Given the description of an element on the screen output the (x, y) to click on. 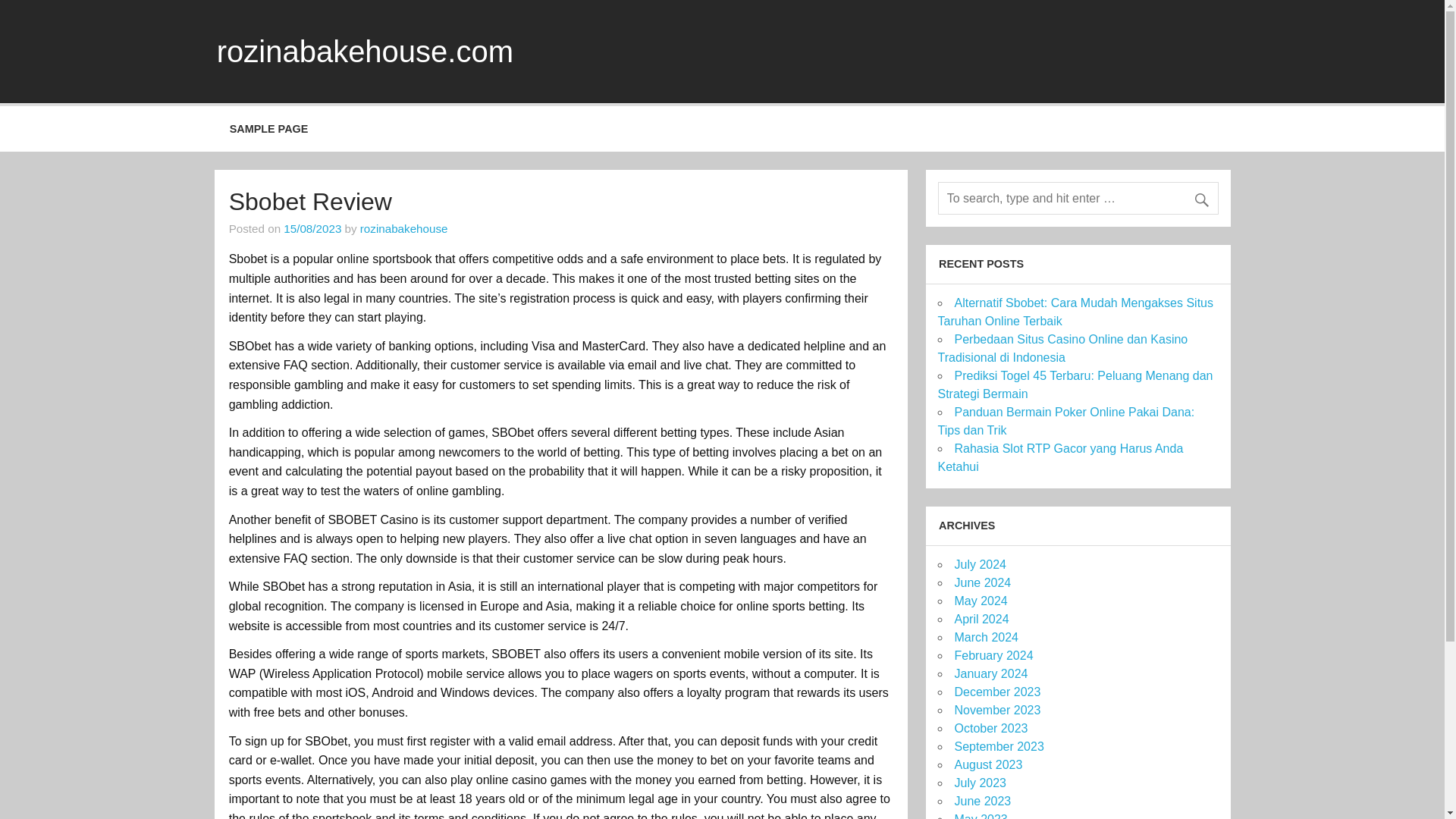
June 2024 (981, 582)
SAMPLE PAGE (268, 128)
May 2024 (980, 600)
July 2024 (979, 563)
August 2023 (987, 764)
July 2023 (979, 782)
Rahasia Slot RTP Gacor yang Harus Anda Ketahui (1059, 457)
September 2023 (998, 746)
April 2024 (981, 618)
March 2024 (985, 636)
May 2023 (980, 816)
Panduan Bermain Poker Online Pakai Dana: Tips dan Trik (1065, 420)
November 2023 (997, 709)
